Given the description of an element on the screen output the (x, y) to click on. 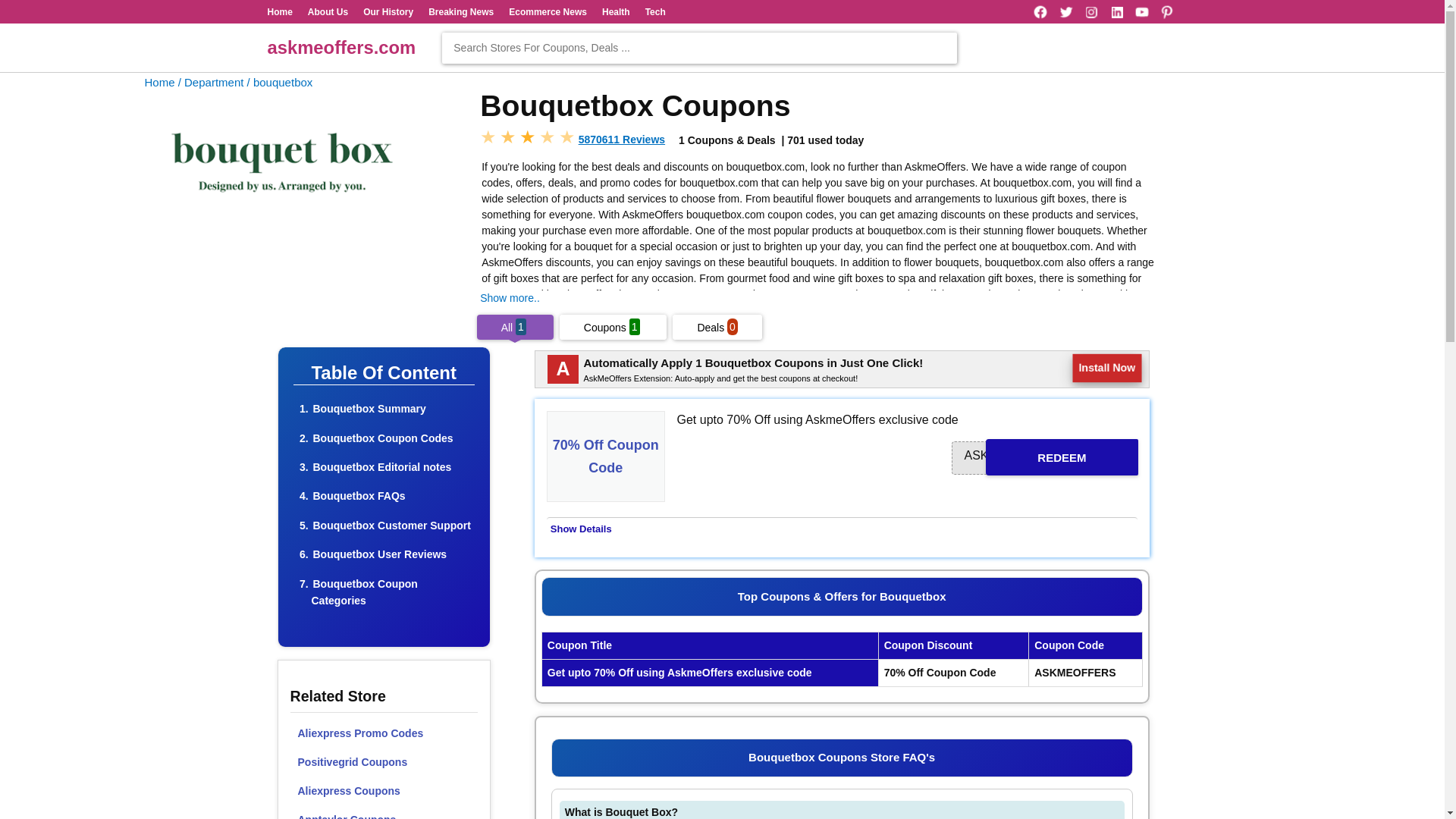
AskMeOffers - Best Deals and Coupons (340, 46)
LinkedIn (1116, 12)
Ecommerce News (547, 11)
All 1 (515, 327)
Pinterest (1166, 12)
YouTube (1142, 12)
Bouquetbox Customer Support (391, 525)
Askmeoffers Homepage (159, 82)
Coupons 1 (612, 327)
Bouquetbox Coupon Categories (363, 592)
